Given the description of an element on the screen output the (x, y) to click on. 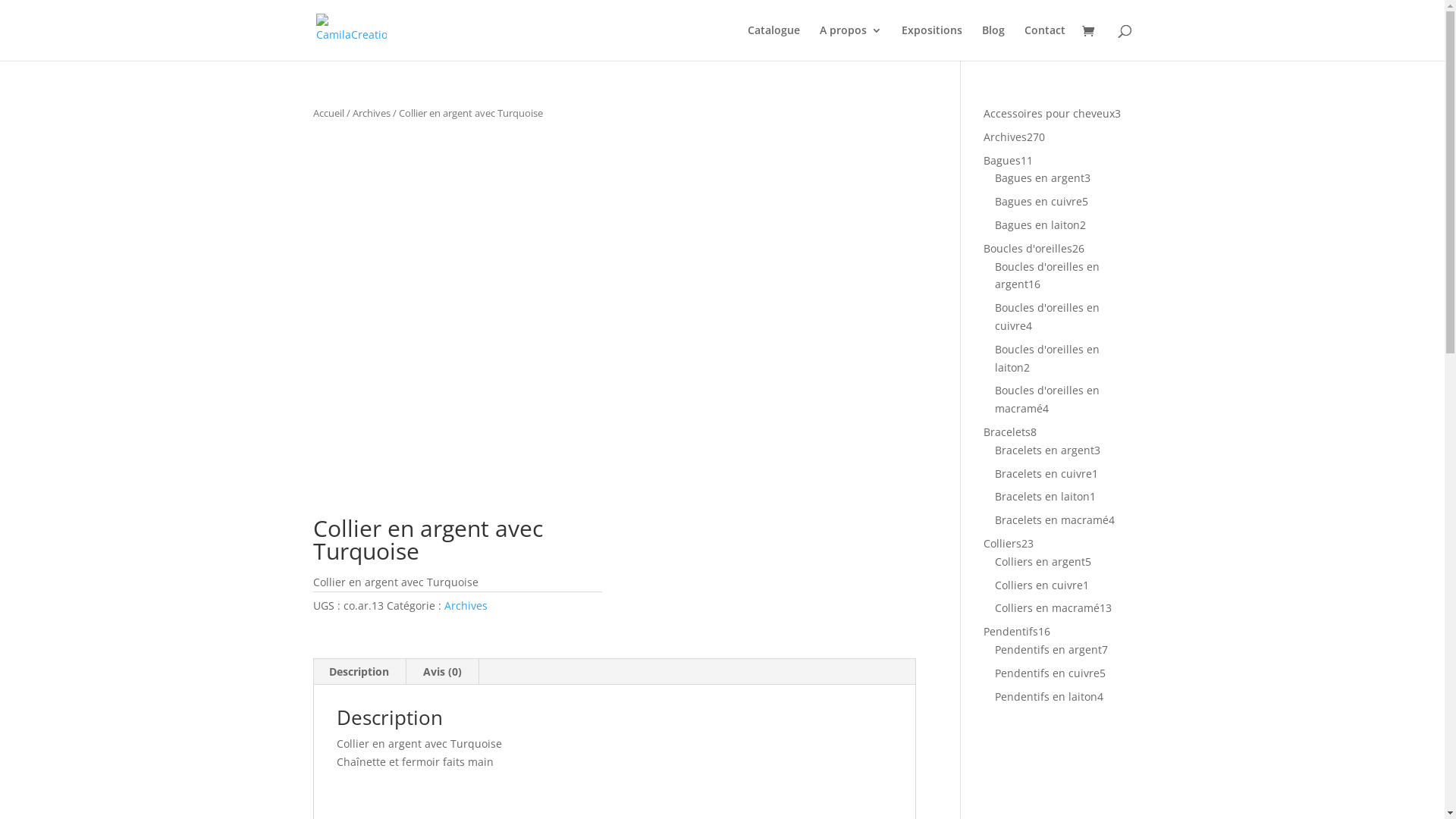
Avis (0) Element type: text (442, 671)
Archives Element type: text (1004, 136)
Archives Element type: text (465, 605)
Bracelets en laiton Element type: text (1041, 496)
Boucles d'oreilles en argent Element type: text (1046, 275)
Catalogue Element type: text (773, 42)
Bagues en argent Element type: text (1039, 177)
Boucles d'oreilles en laiton Element type: text (1046, 358)
Pendentifs en cuivre Element type: text (1046, 672)
A propos Element type: text (850, 42)
Bagues en cuivre Element type: text (1038, 201)
Boucles d'oreilles Element type: text (1027, 248)
Colliers Element type: text (1002, 543)
Bracelets Element type: text (1006, 431)
Description Element type: text (358, 671)
Bracelets en argent Element type: text (1044, 449)
Colliers en argent Element type: text (1039, 561)
Bagues Element type: text (1001, 160)
Boucles d'oreilles en cuivre Element type: text (1046, 316)
Archives Element type: text (370, 112)
Bagues en laiton Element type: text (1036, 224)
Accueil Element type: text (327, 112)
Bracelets en cuivre Element type: text (1043, 473)
Accessoires pour cheveux Element type: text (1048, 113)
Pendentifs en laiton Element type: text (1045, 696)
Blog Element type: text (992, 42)
Contact Element type: text (1043, 42)
Expositions Element type: text (930, 42)
Pendentifs Element type: text (1010, 631)
Pendentifs en argent Element type: text (1047, 649)
Colliers en cuivre Element type: text (1038, 584)
